Given the description of an element on the screen output the (x, y) to click on. 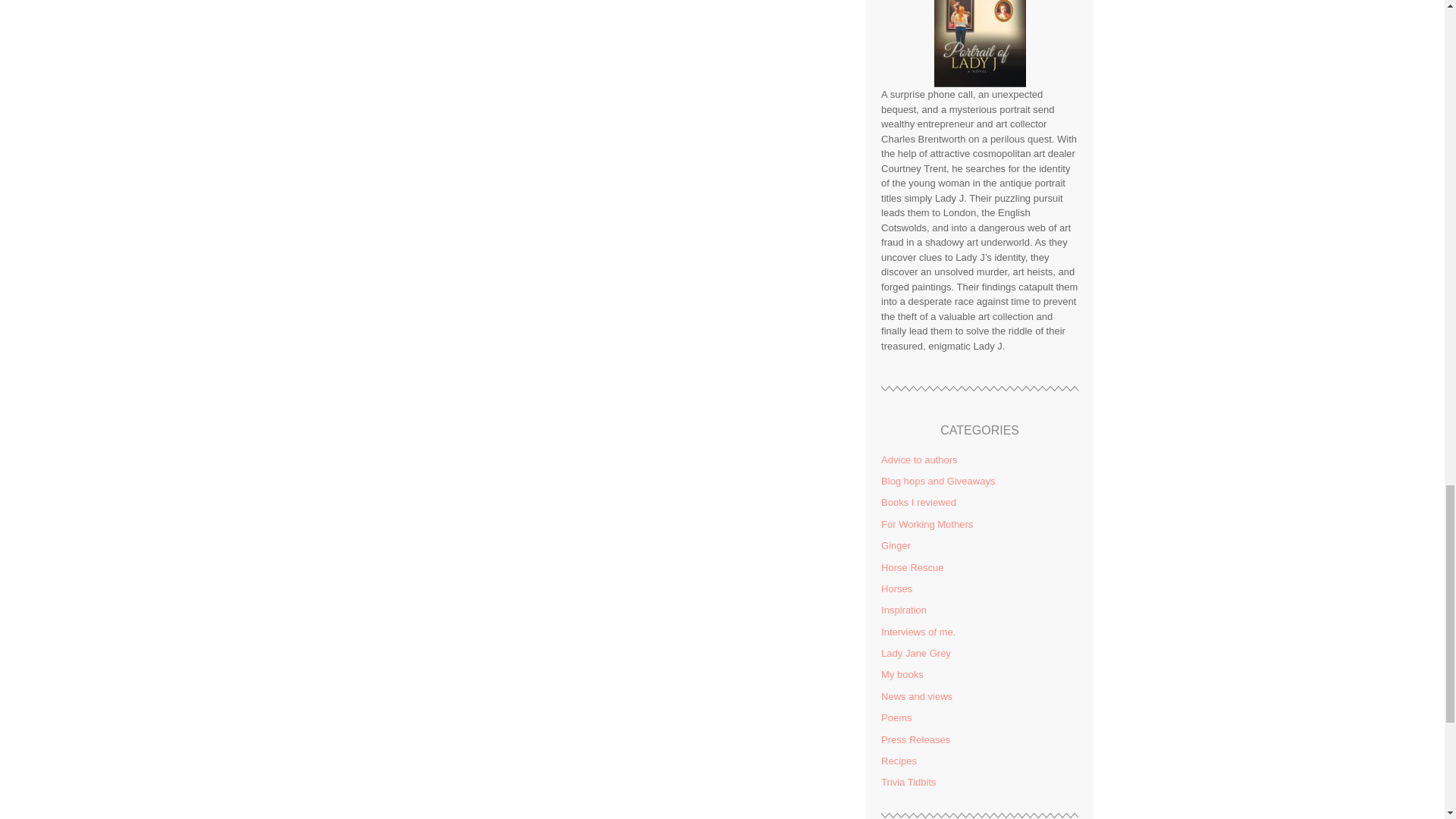
Inspiration (903, 609)
Books I reviewed (918, 501)
Horses (896, 588)
Ginger (895, 545)
Advice to authors (918, 460)
Horse Rescue (911, 567)
For Working Mothers (926, 523)
Blog hops and Giveaways (937, 480)
